Given the description of an element on the screen output the (x, y) to click on. 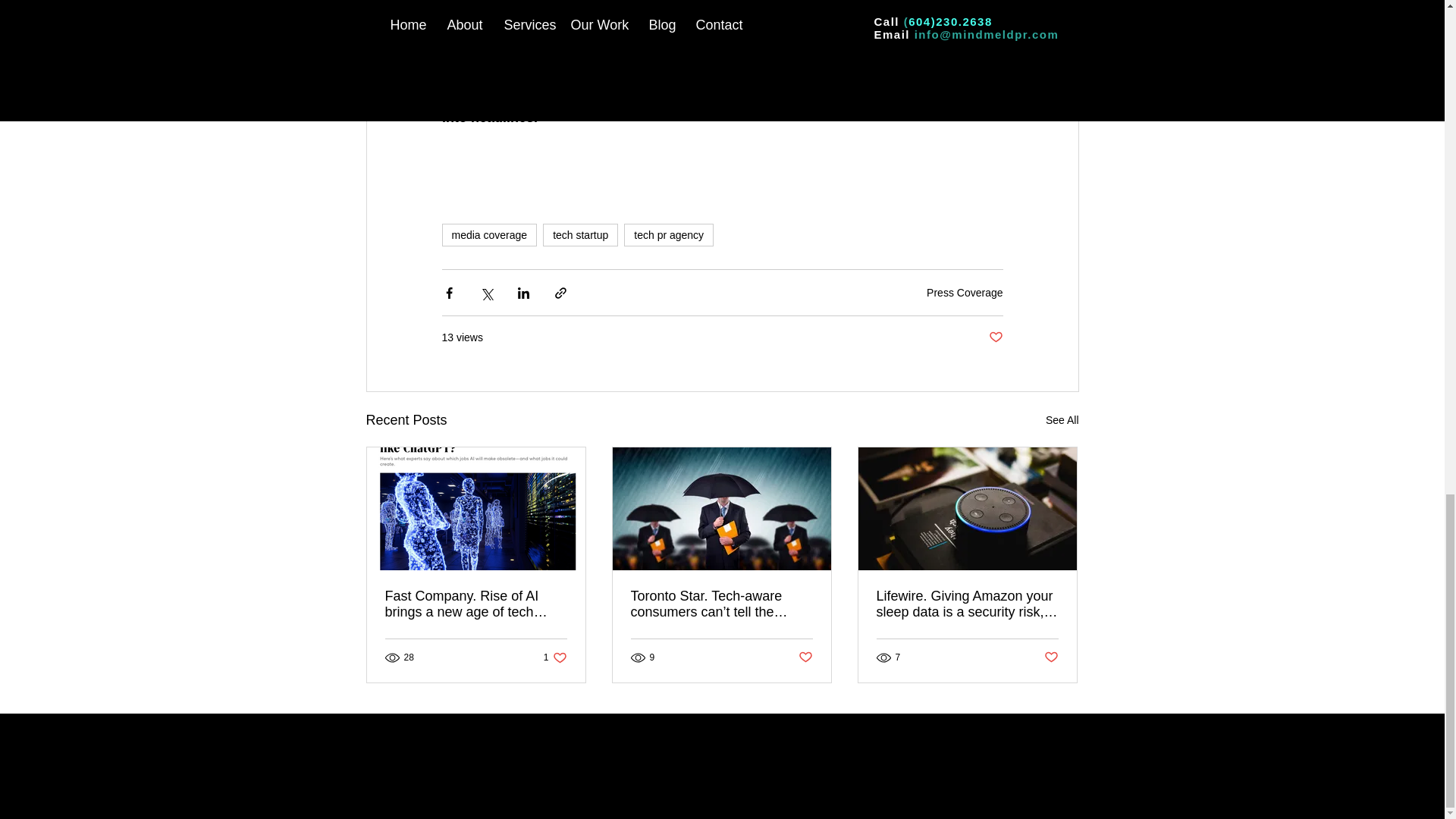
media coverage (489, 234)
Press Coverage (555, 657)
Post not marked as liked (964, 292)
tech PR agency (995, 337)
tech startup (573, 94)
See All (580, 234)
tech pr agency (1061, 420)
